Given the description of an element on the screen output the (x, y) to click on. 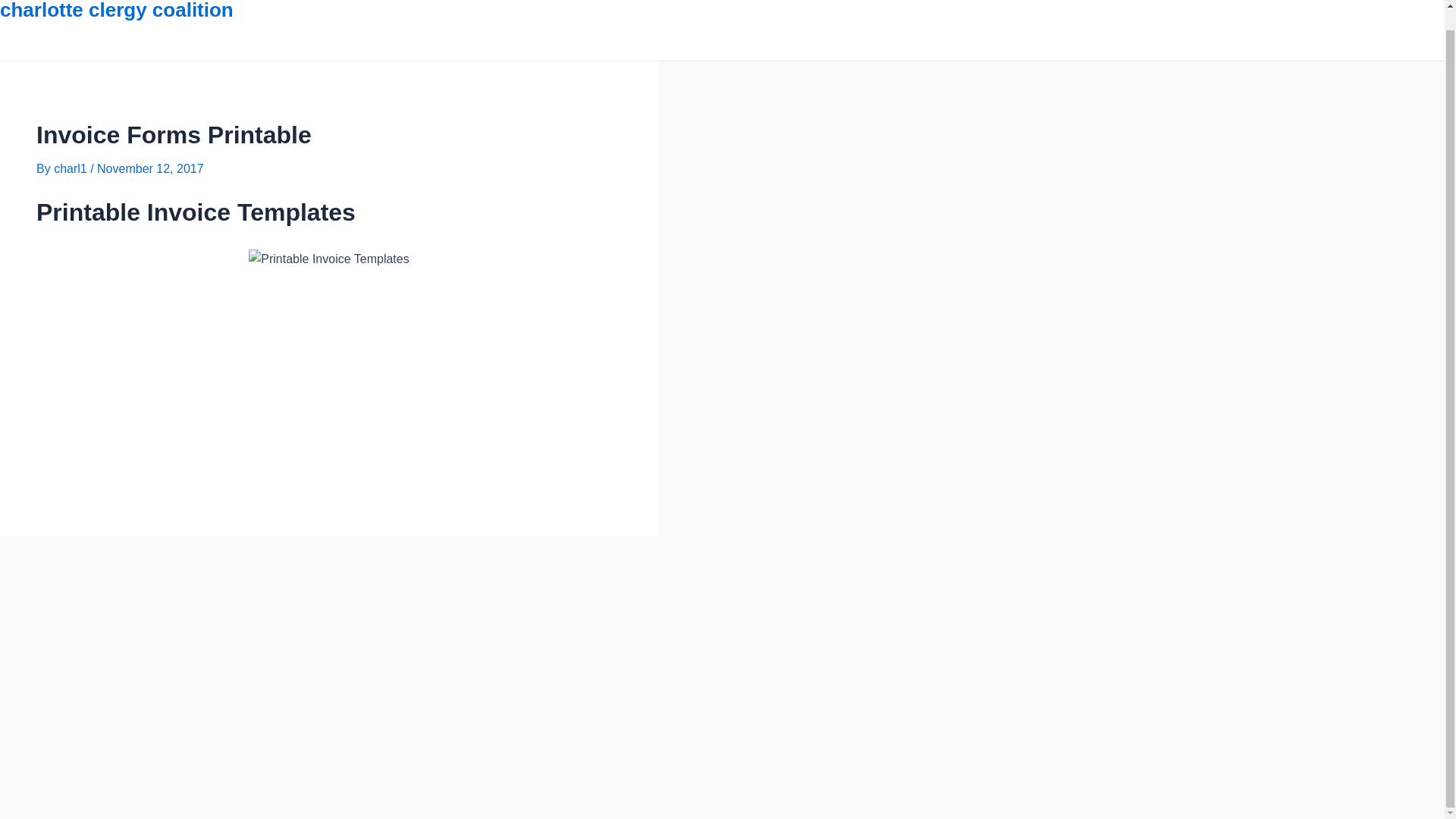
charl1 (71, 168)
View all posts by charl1 (71, 168)
Printable Invoice Templates (328, 259)
charlotte clergy coalition (116, 10)
